Given the description of an element on the screen output the (x, y) to click on. 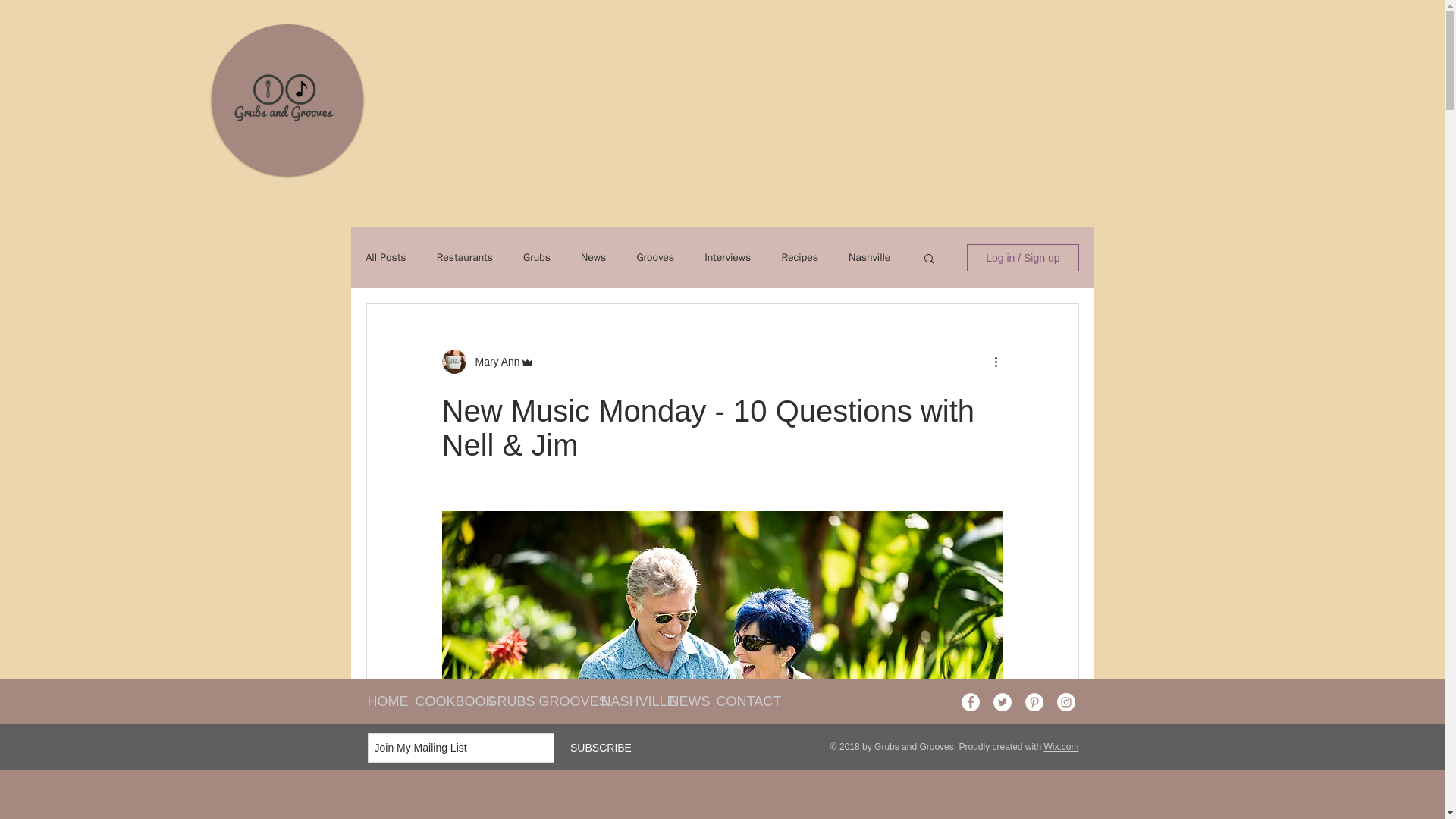
Nashville (868, 257)
Restaurants (464, 257)
Mary Ann (492, 360)
Interviews (727, 257)
SUBSCRIBE (600, 747)
Wix.com (1060, 747)
Grooves (655, 257)
All Posts (385, 257)
Grubs (536, 257)
Recipes (799, 257)
News (592, 257)
